Given the description of an element on the screen output the (x, y) to click on. 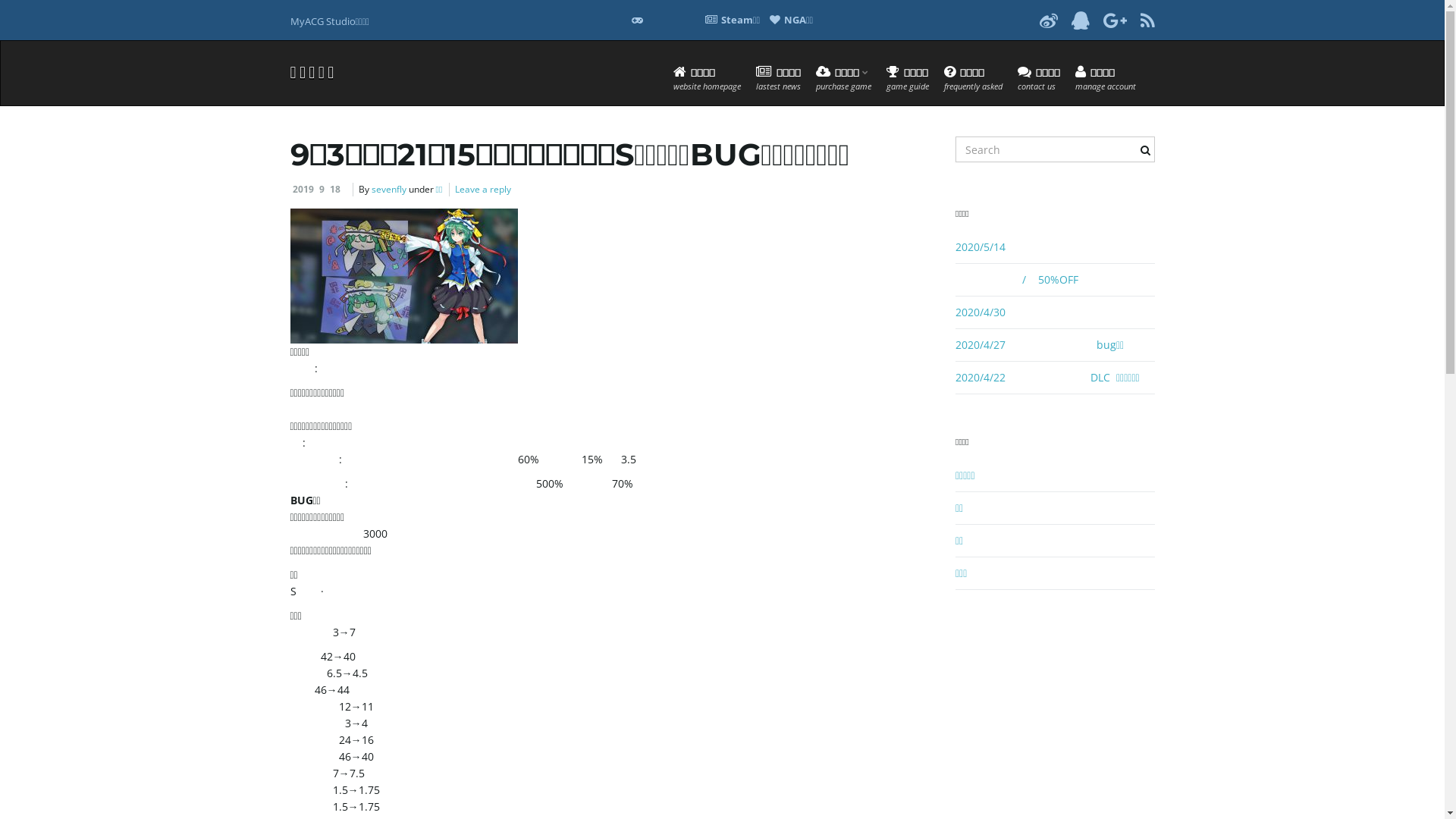
Google Plus Element type: hover (1114, 19)
Dribble Element type: hover (1079, 19)
Submit Comment Element type: text (50, 10)
Leave a reply Element type: text (483, 188)
sevenfly Element type: text (388, 188)
